Given the description of an element on the screen output the (x, y) to click on. 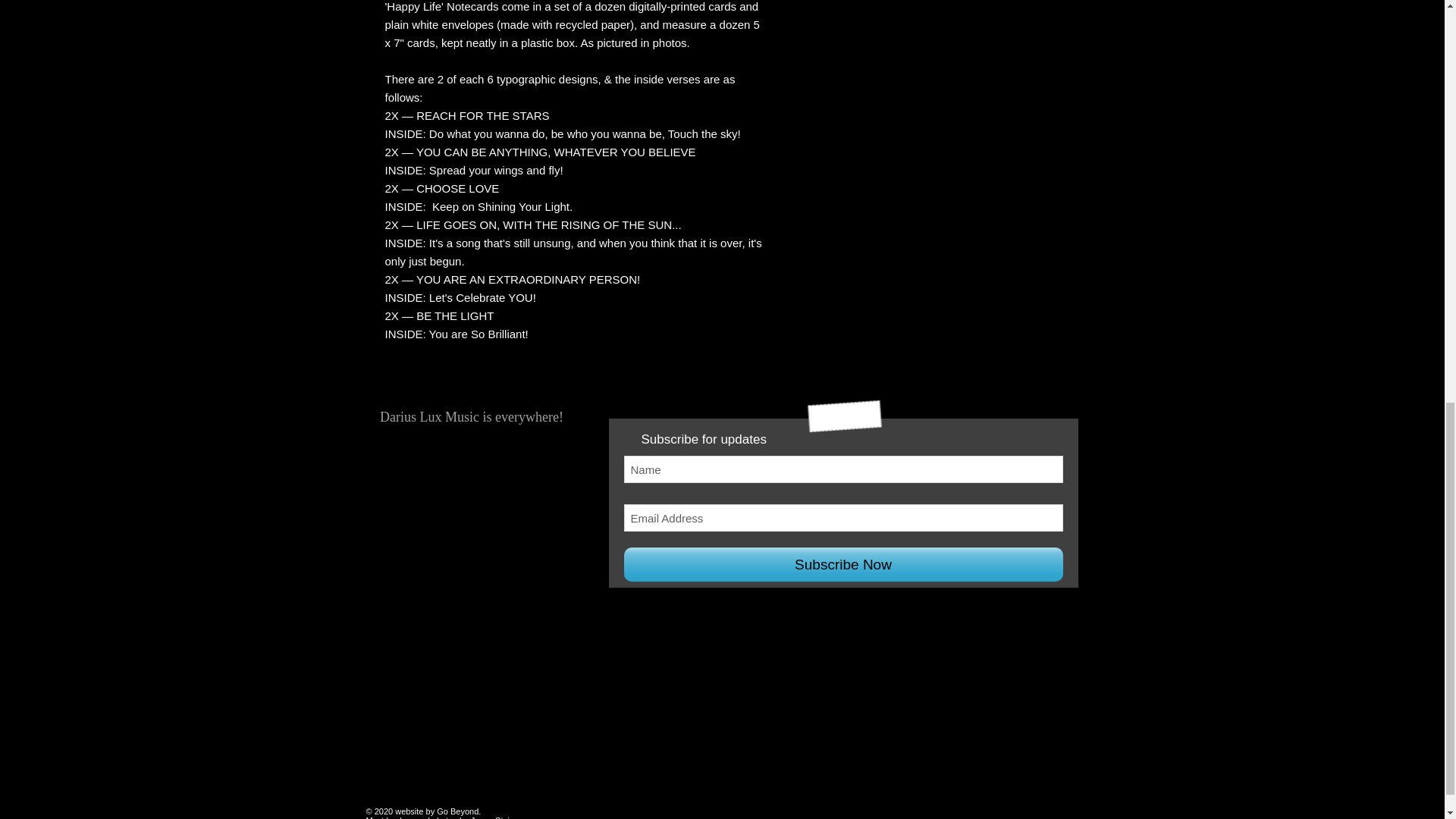
Subscribe Now (842, 564)
